Given the description of an element on the screen output the (x, y) to click on. 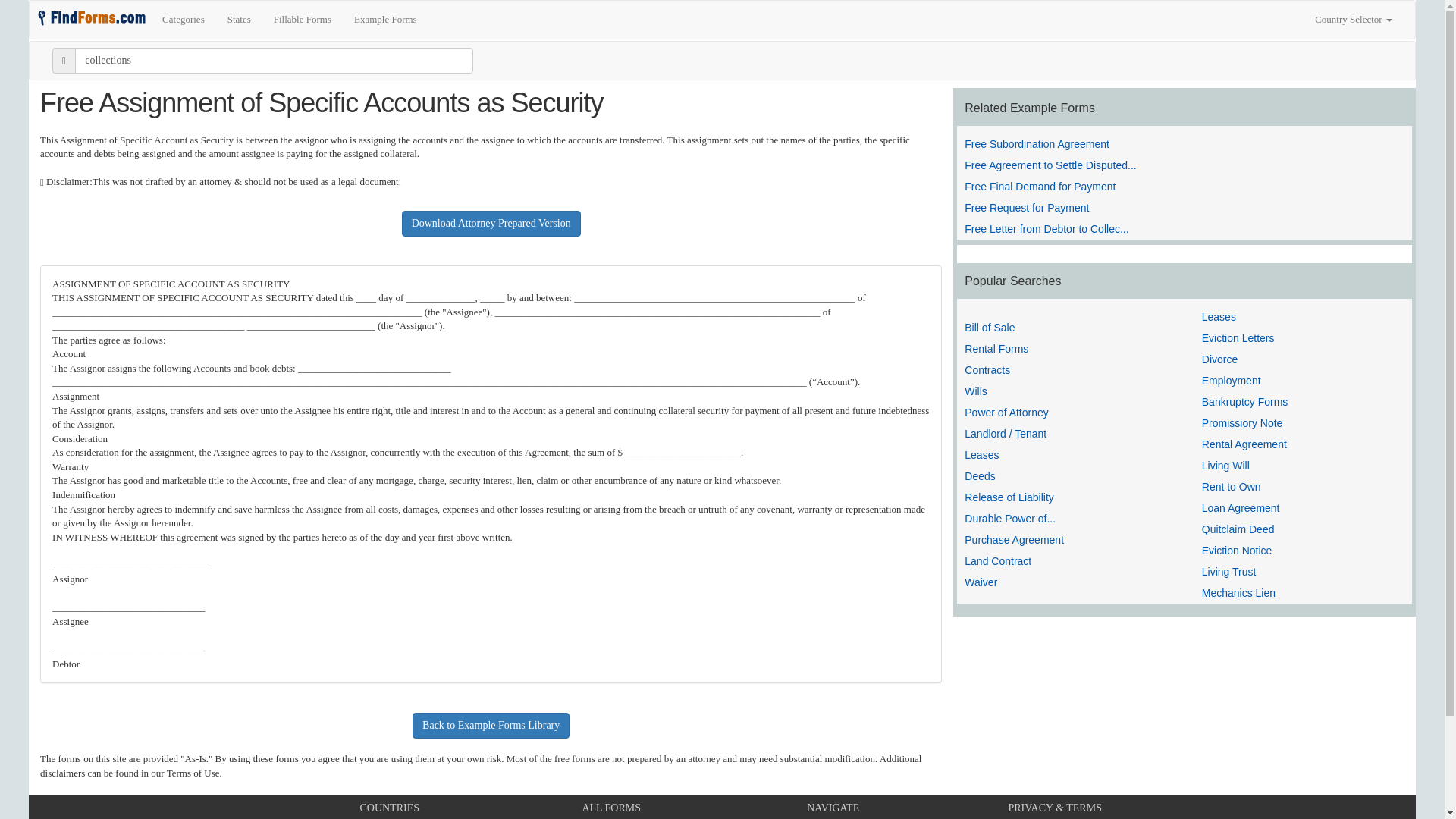
Power of Attorney (1005, 412)
Deeds (978, 476)
Fillable Forms (302, 19)
Contracts (986, 369)
Durable Power of Attorney (1009, 518)
Promissiory Note (1242, 422)
Land Contract (996, 561)
Bankruptcy Forms (1245, 401)
Rental Forms (995, 348)
Purchase Agreement (1013, 539)
